Given the description of an element on the screen output the (x, y) to click on. 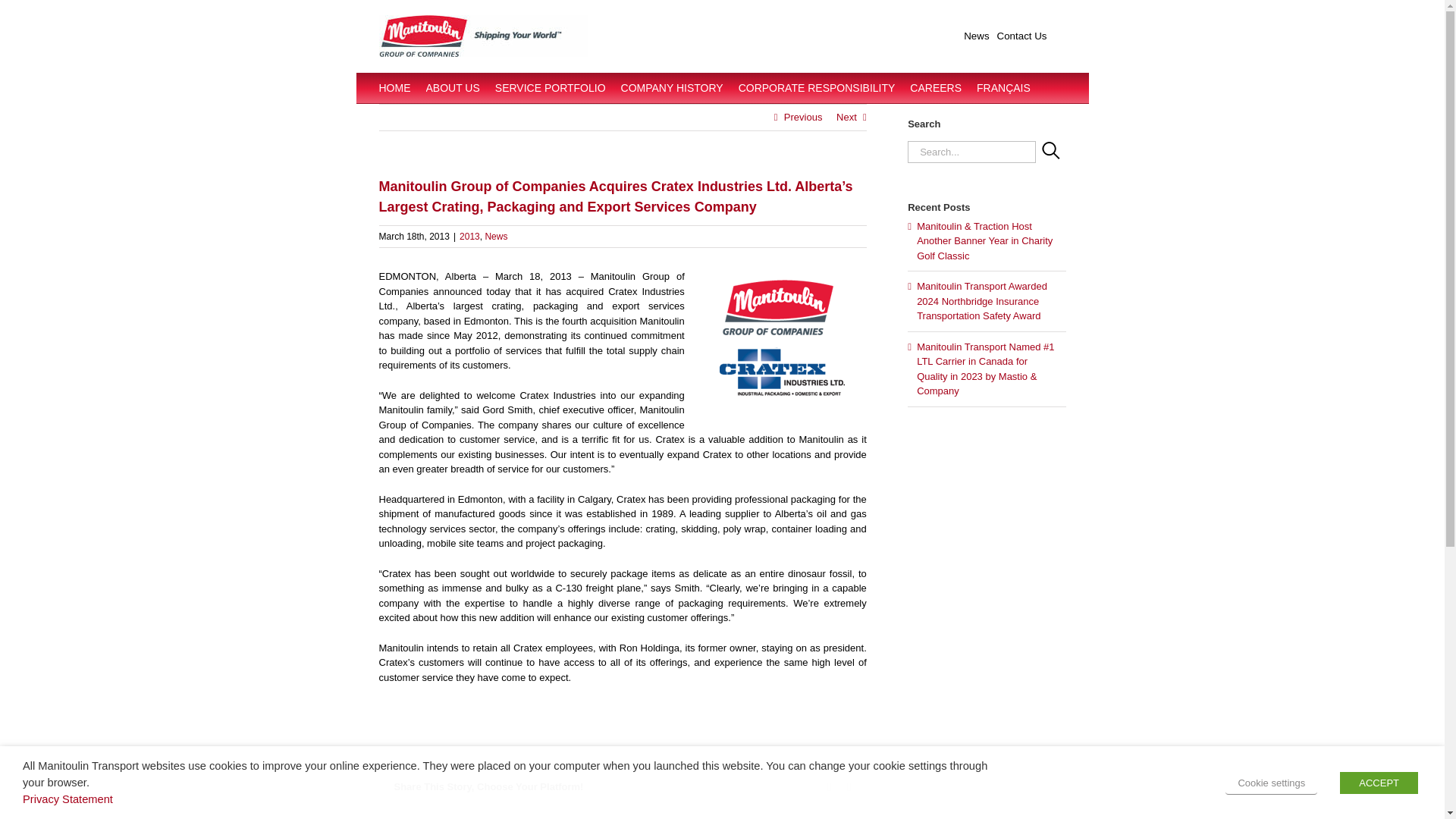
ABOUT US (453, 87)
CORPORATE RESPONSIBILITY (816, 87)
COMPANY HISTORY (672, 87)
Contact Us (1021, 36)
News (975, 36)
CAREERS (935, 87)
HOME (394, 87)
SERVICE PORTFOLIO (550, 87)
